Given the description of an element on the screen output the (x, y) to click on. 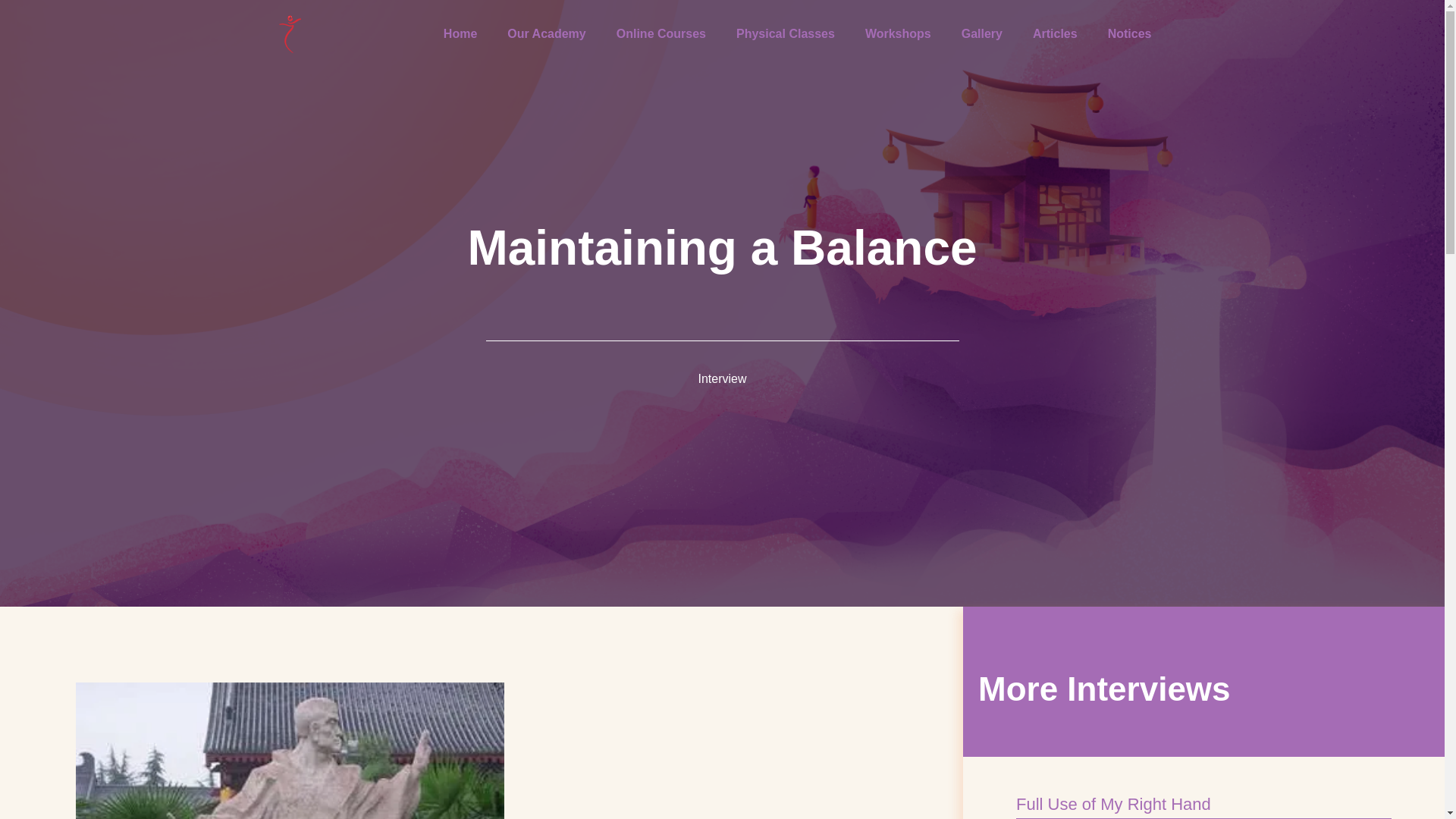
Full Use of My Right Hand (1113, 804)
Physical Classes (785, 33)
Online Courses (660, 33)
Articles (1055, 33)
Our Academy (545, 33)
Gallery (981, 33)
Home (460, 33)
Workshops (898, 33)
Notices (1130, 33)
